Given the description of an element on the screen output the (x, y) to click on. 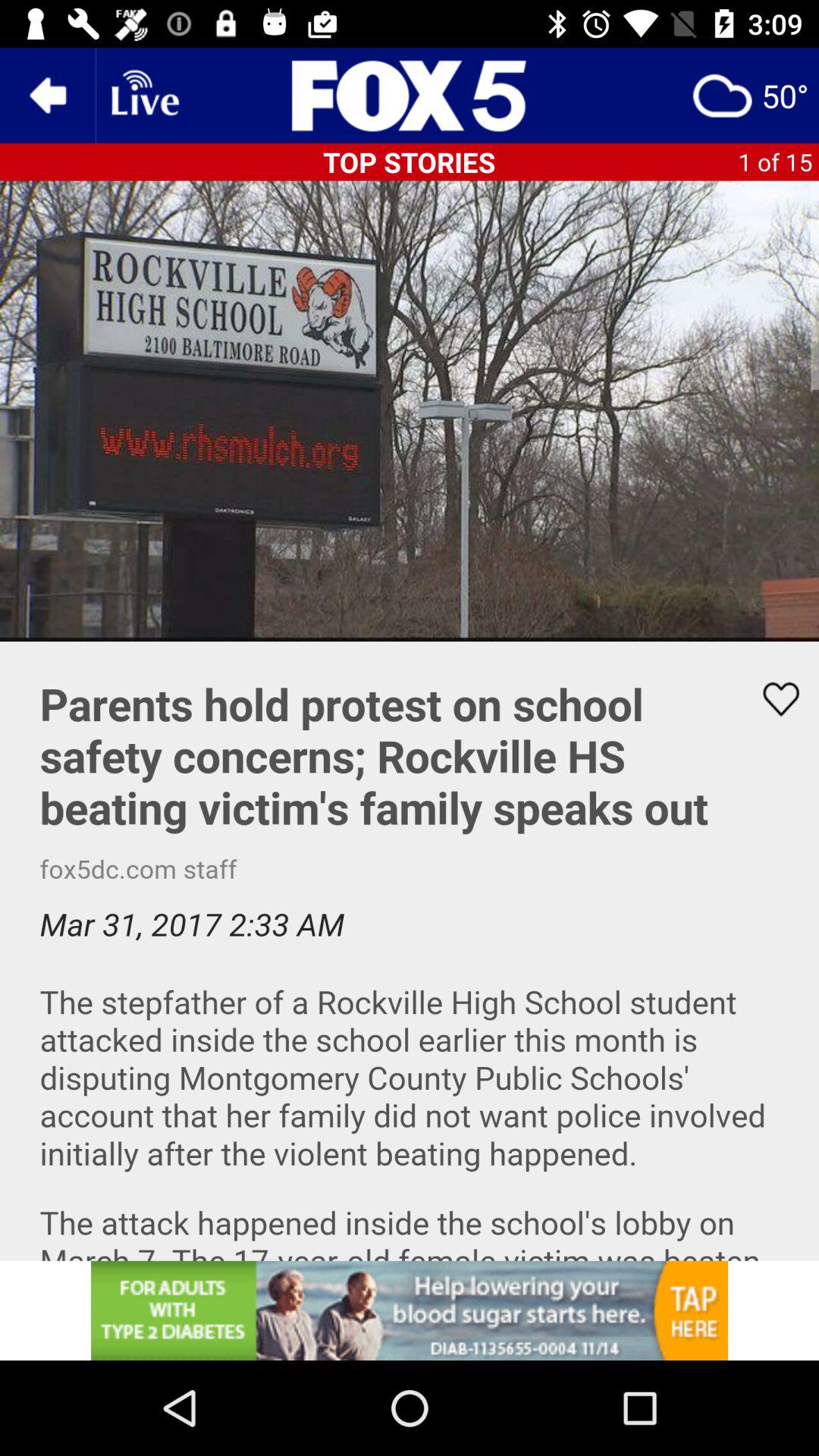
go back (47, 95)
